Given the description of an element on the screen output the (x, y) to click on. 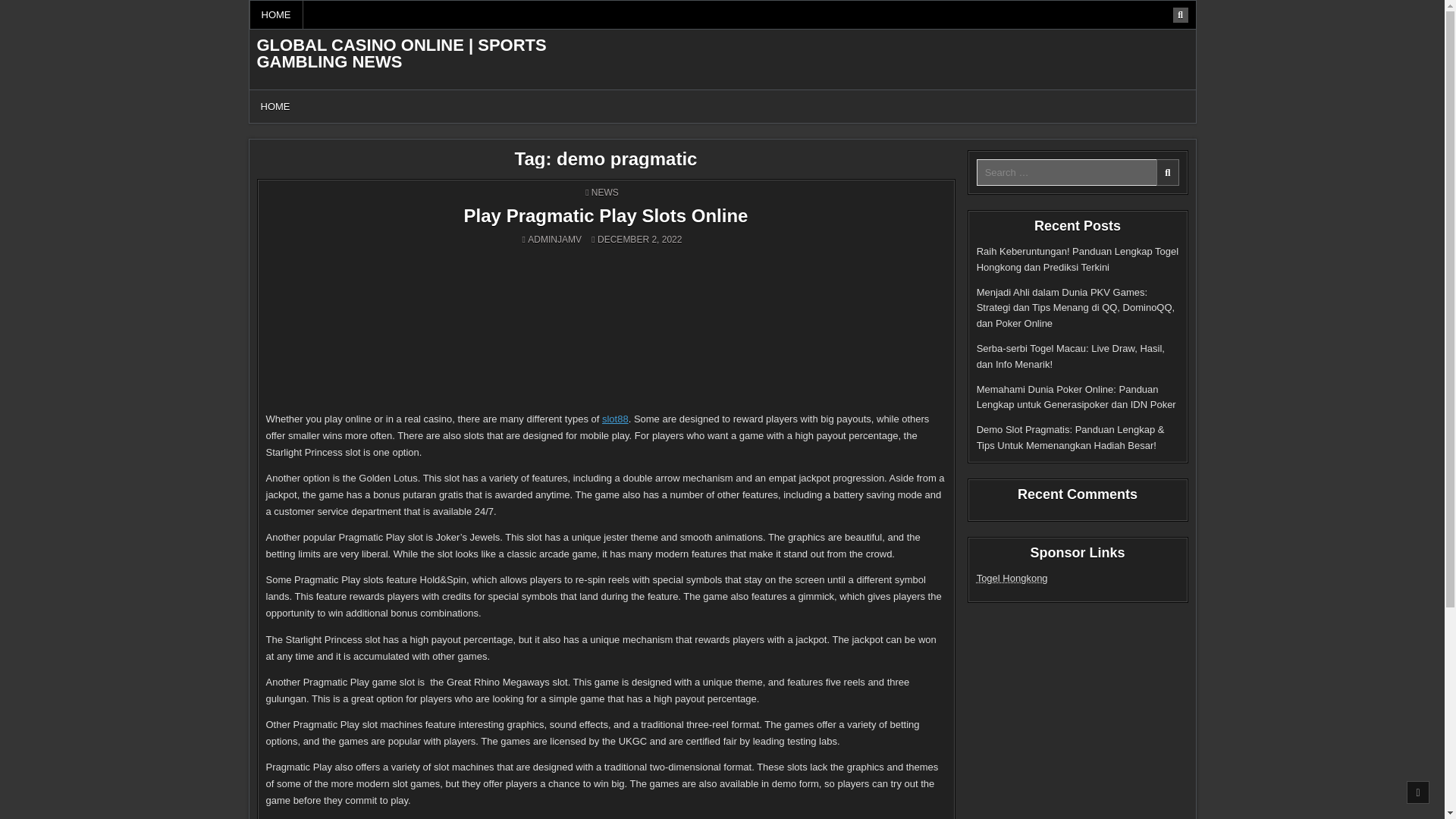
SCROLL TO TOP (1417, 792)
Scroll to Top (1417, 792)
NEWS (604, 192)
slot88 (615, 418)
SCROLL TO TOP (1417, 792)
ADMINJAMV (553, 239)
HOME (275, 14)
Play Pragmatic Play Slots Online (606, 215)
Togel Hongkong (1012, 577)
Serba-serbi Togel Macau: Live Draw, Hasil, dan Info Menarik! (1070, 356)
HOME (274, 106)
